Given the description of an element on the screen output the (x, y) to click on. 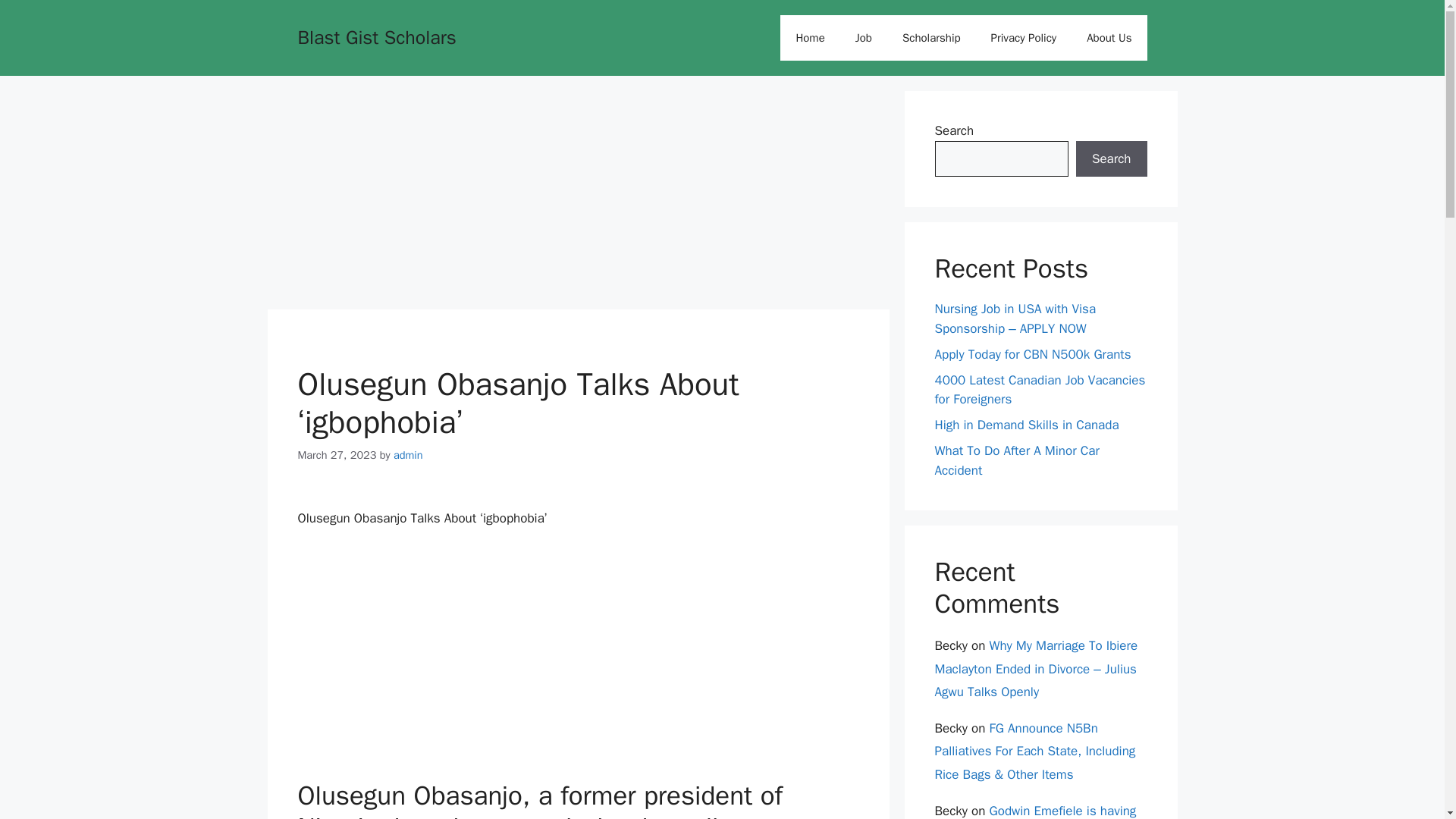
Job (863, 37)
What To Do After A Minor Car Accident (1016, 460)
Scholarship (930, 37)
Privacy Policy (1023, 37)
4000 Latest Canadian Job Vacancies for Foreigners (1039, 389)
Apply Today for CBN N500k Grants (1032, 353)
About Us (1109, 37)
High in Demand Skills in Canada (1026, 424)
Home (810, 37)
View all posts by admin (408, 236)
Blast Gist Scholars (376, 37)
Search (1111, 158)
admin (408, 236)
